Given the description of an element on the screen output the (x, y) to click on. 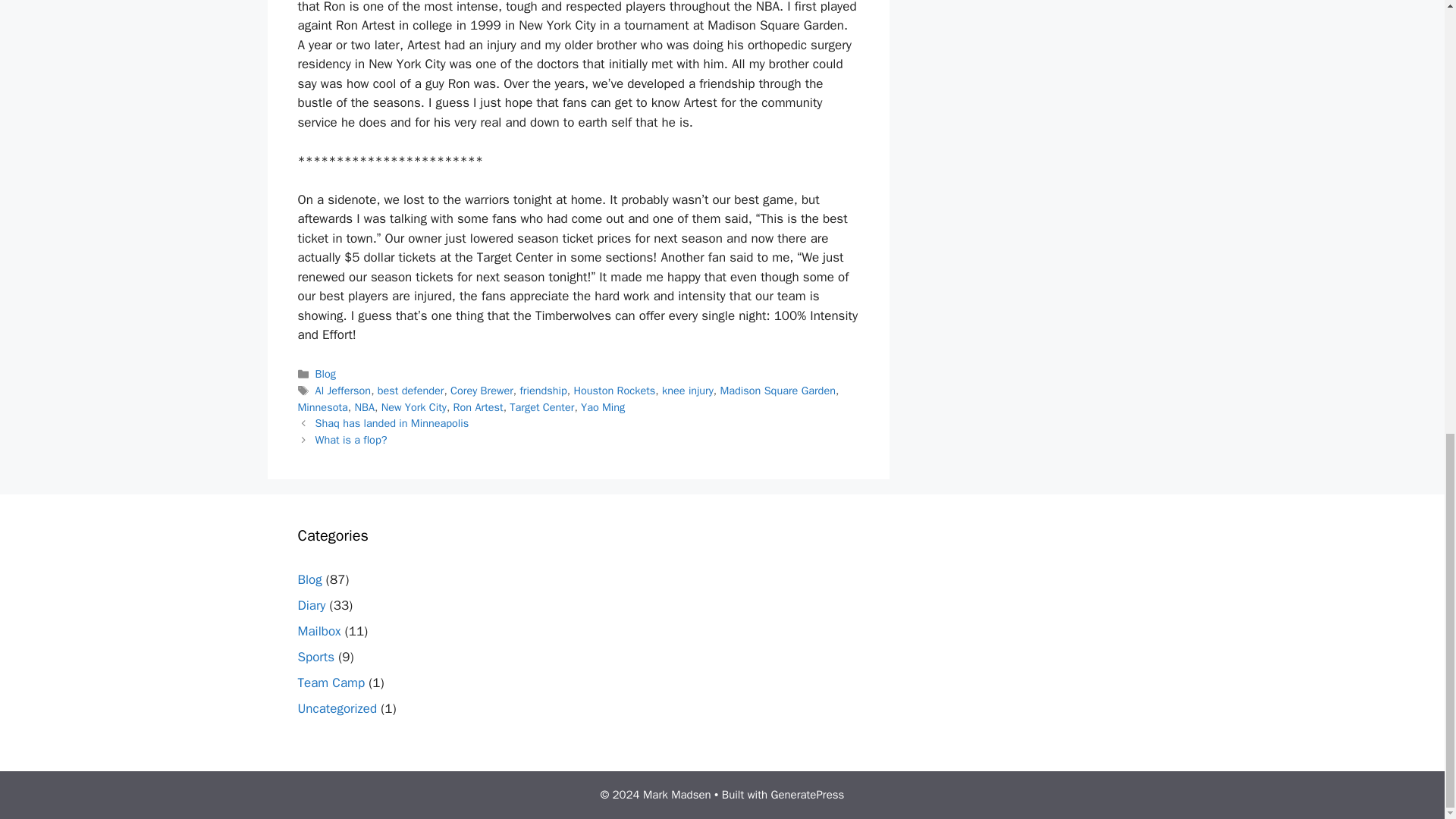
best defender (410, 390)
What is a flop? (351, 439)
Uncategorized (337, 708)
Al Jefferson (343, 390)
Sports (315, 657)
Diary (310, 605)
Houston Rockets (614, 390)
Yao Ming (602, 407)
NBA (363, 407)
Ron Artest (477, 407)
